Given the description of an element on the screen output the (x, y) to click on. 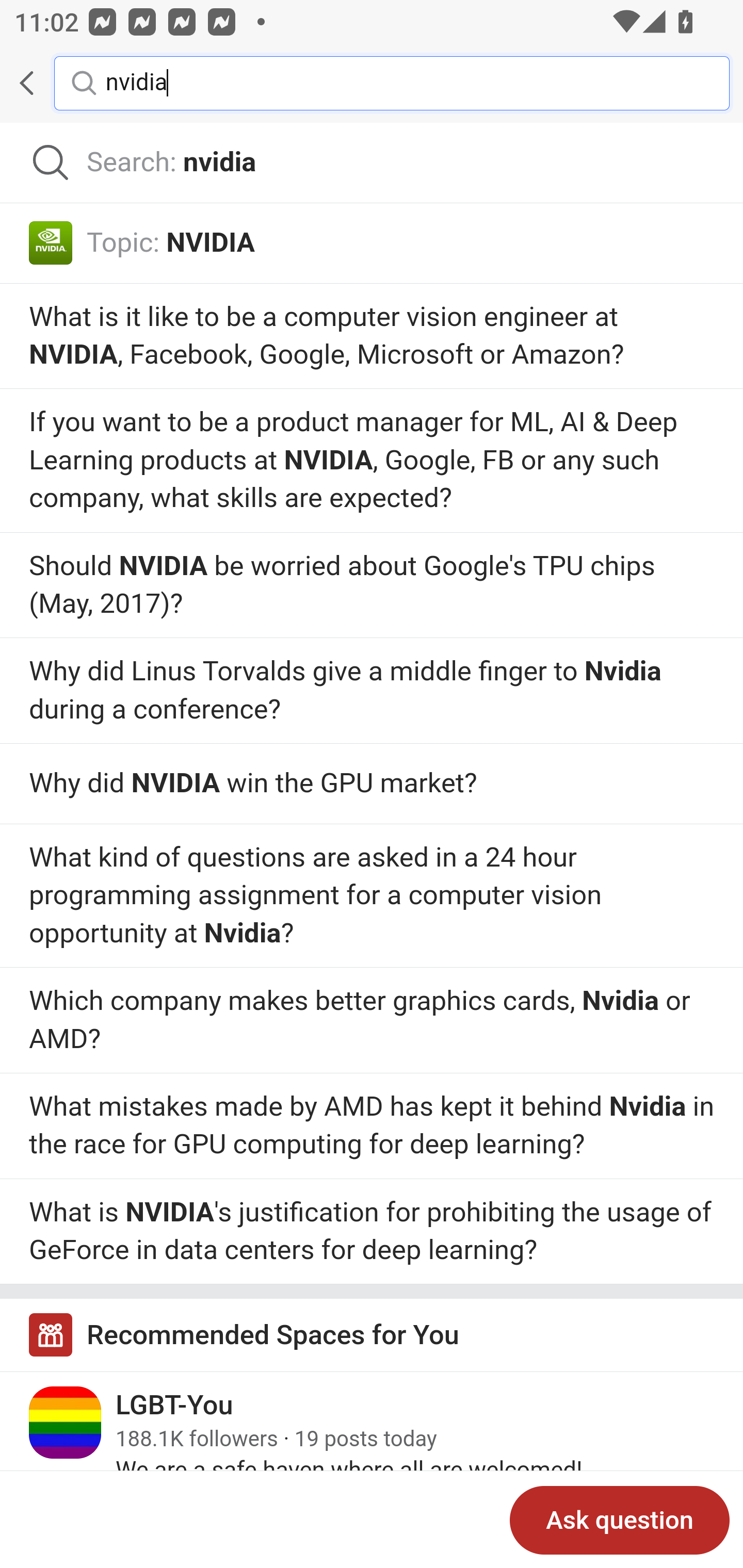
Me Home Search Add (371, 82)
nvidia (402, 82)
Search: nvid (371, 162)
Icon for NVIDIA (50, 241)
Why did NVIDIA win the GPU market? (371, 783)
Icon for LGBT-You (65, 1422)
